Given the description of an element on the screen output the (x, y) to click on. 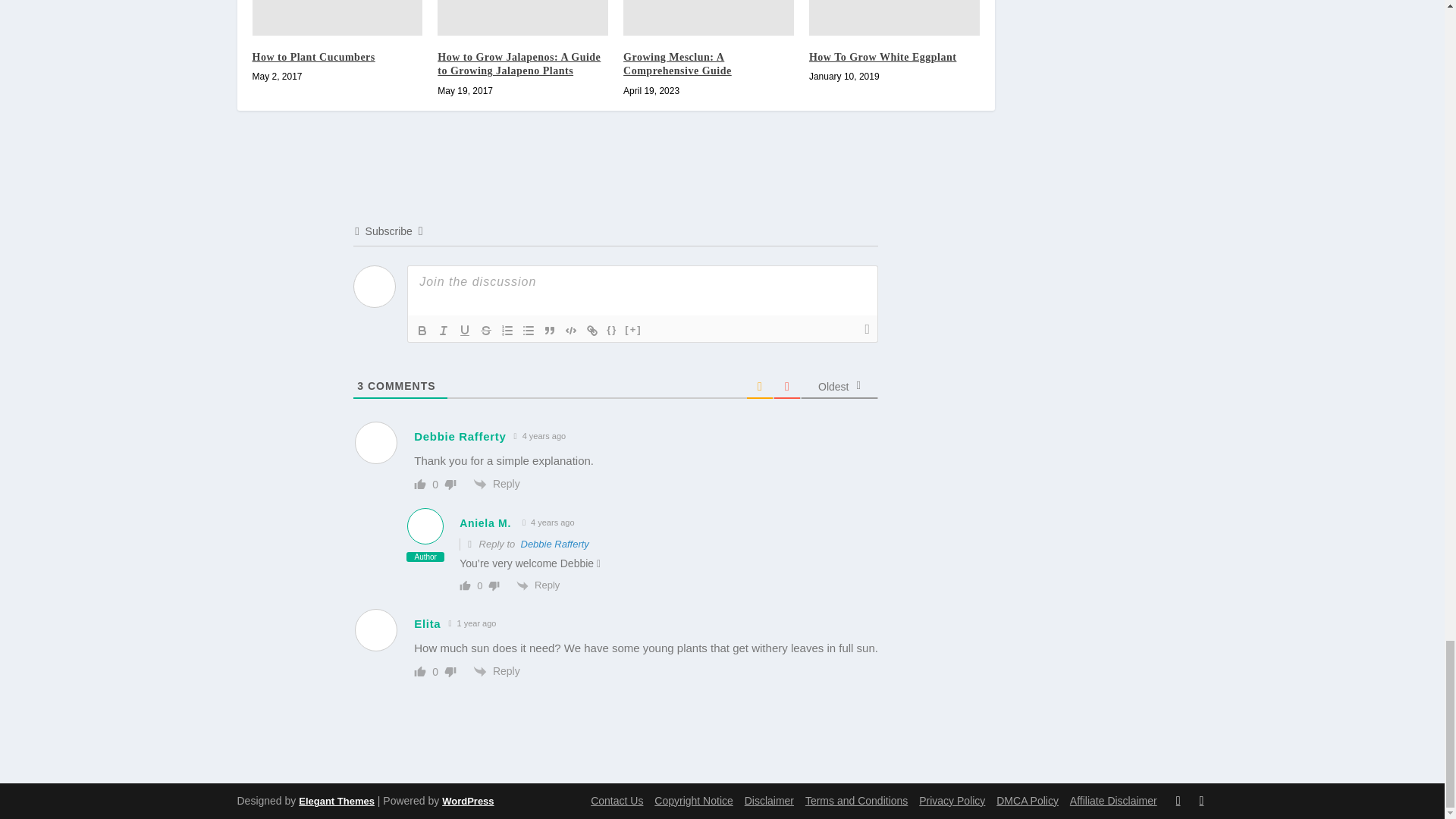
How To Grow White Eggplant (894, 18)
Bold (422, 330)
Growing Mesclun: A Comprehensive Guide (708, 18)
How to Plant Cucumbers (336, 18)
How to Grow Jalapenos: A Guide to Growing Jalapeno Plants (523, 18)
